Given the description of an element on the screen output the (x, y) to click on. 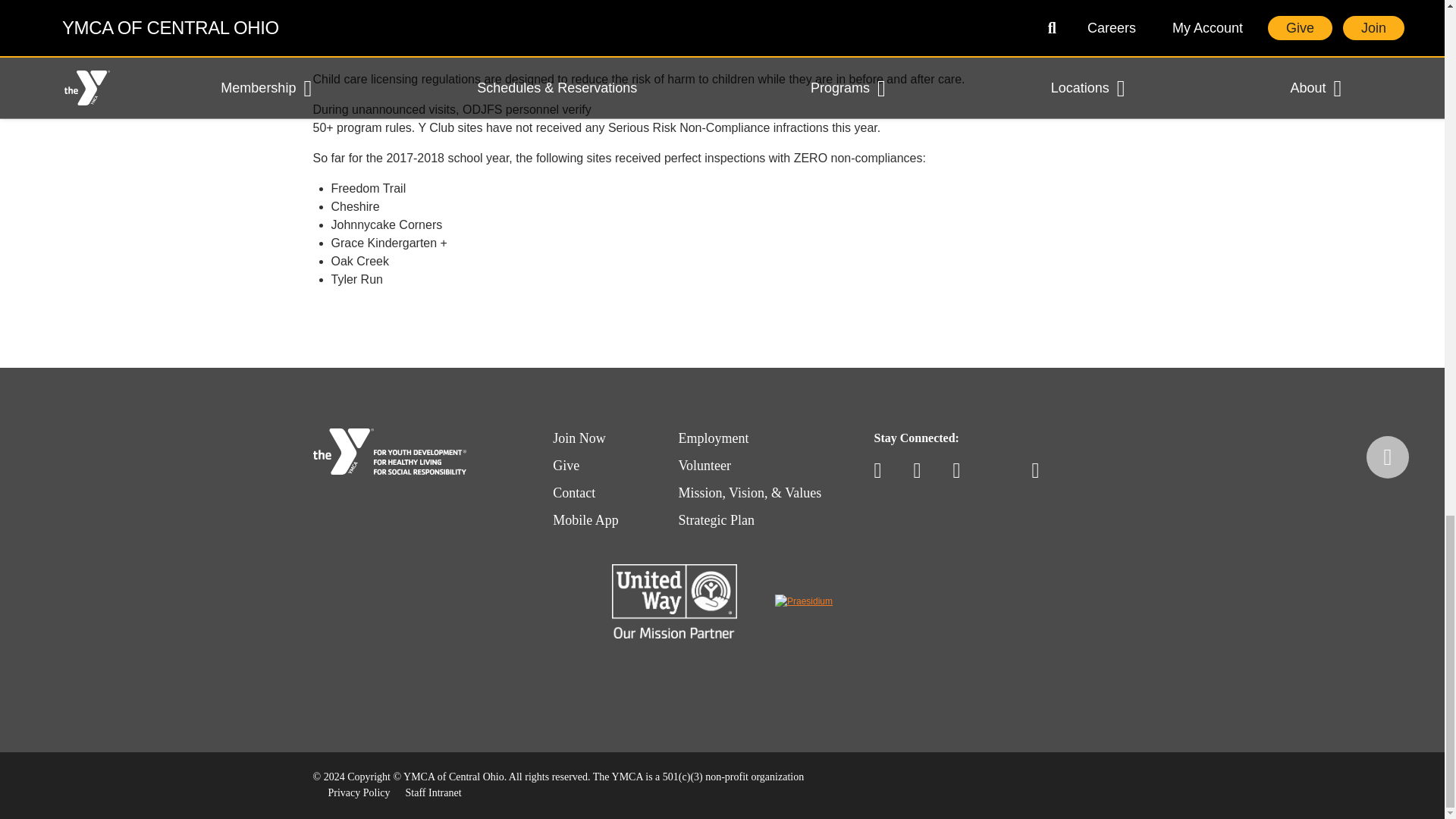
Go to YMCA of Central Ohio's Instagram (963, 470)
Go to YMCA of Central Ohio's LinkedIn (1041, 470)
Go to YMCA of Central Ohio's YouTube (923, 470)
Go to YMCA of Central Ohio's Facebook (884, 470)
Go to YMCA of Central Ohio's TikTok (1002, 470)
